Given the description of an element on the screen output the (x, y) to click on. 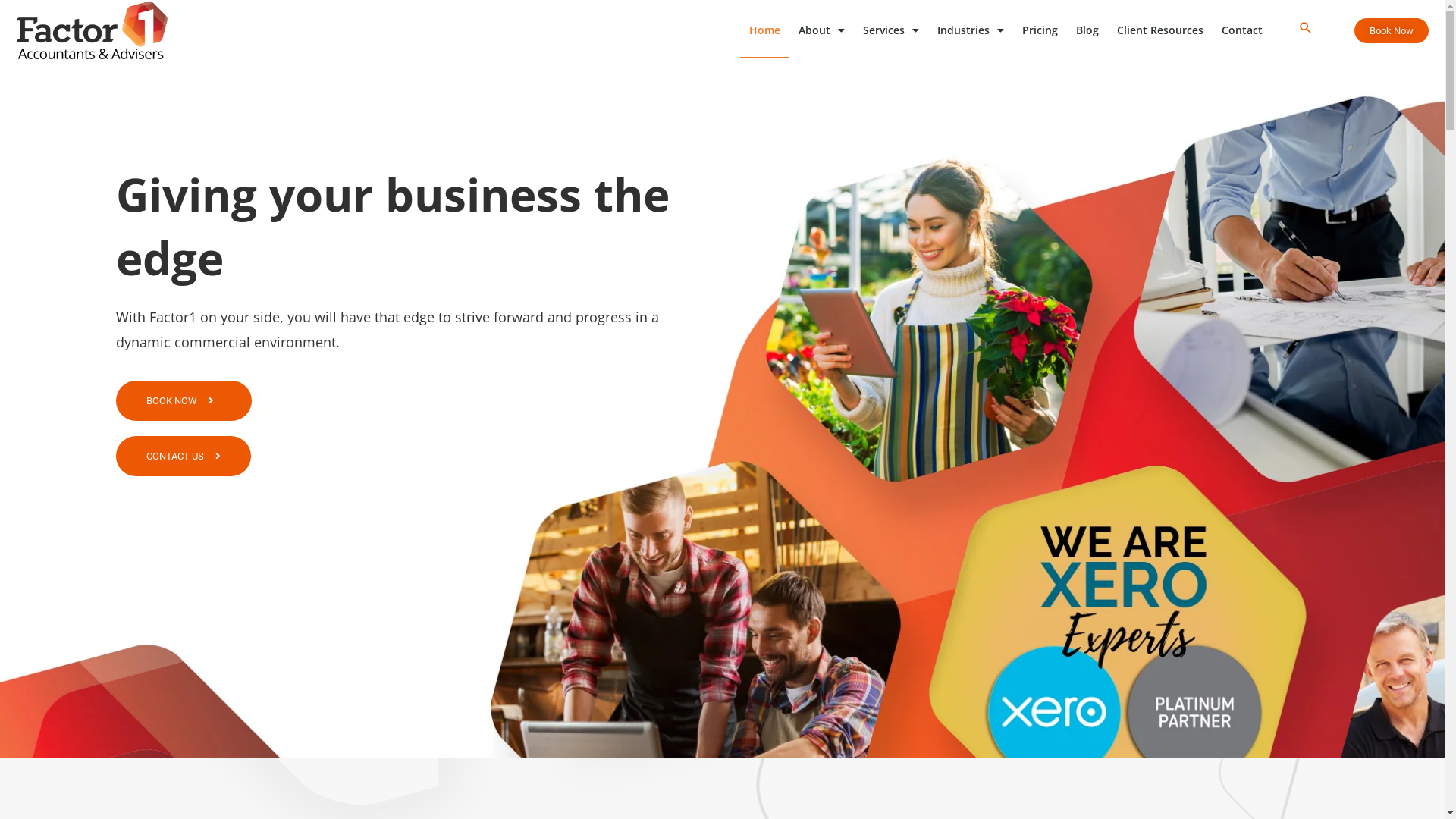
Contact Element type: text (1241, 30)
Industries Element type: text (970, 30)
Book Now Element type: text (1391, 30)
Services Element type: text (890, 30)
BOOK NOW Element type: text (183, 400)
CONTACT US Element type: text (182, 456)
Home Element type: text (764, 30)
About Element type: text (821, 30)
Client Resources Element type: text (1159, 30)
Pricing Element type: text (1039, 30)
Blog Element type: text (1086, 30)
